Given the description of an element on the screen output the (x, y) to click on. 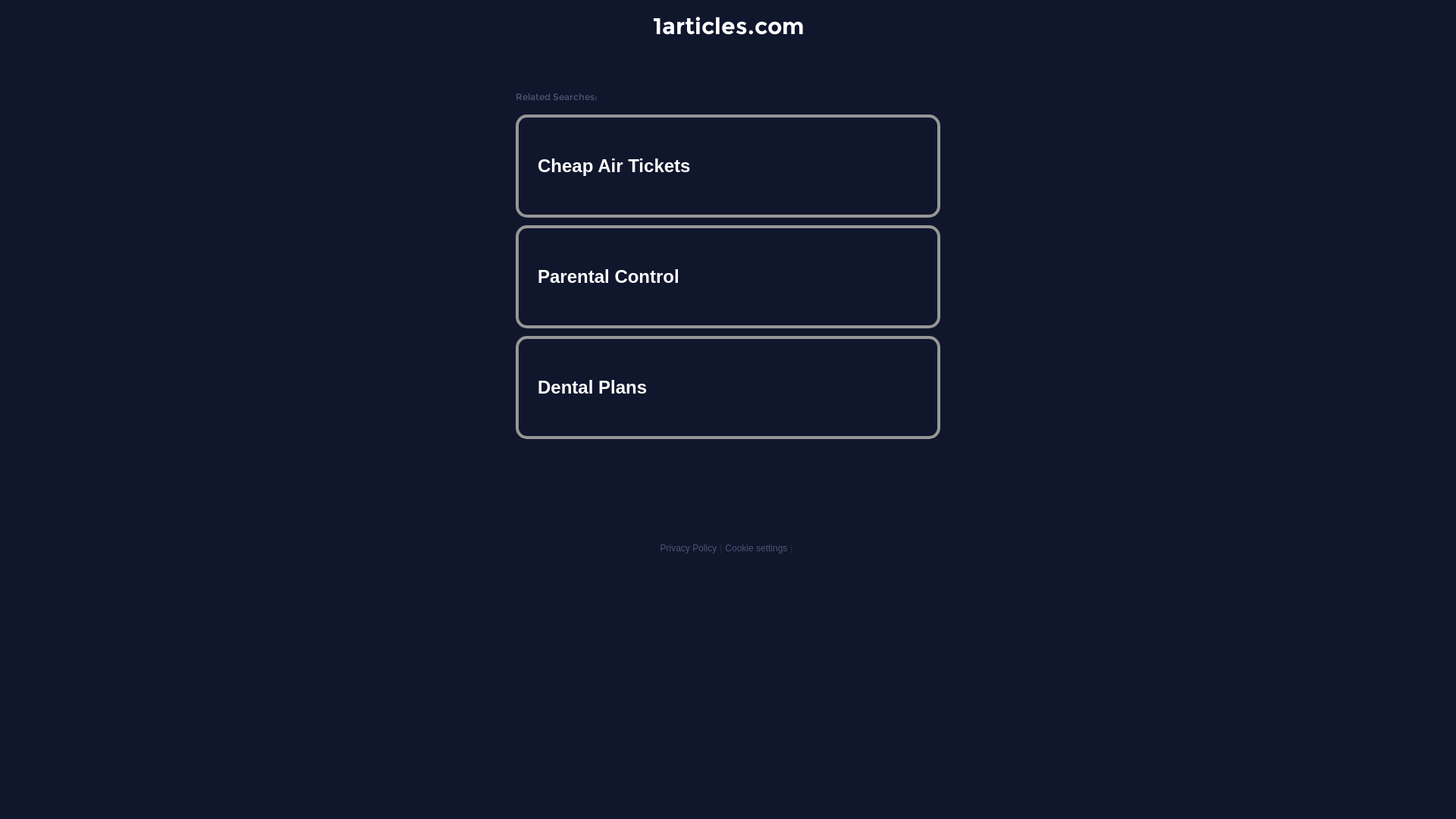
Cookie settings Element type: text (755, 547)
Parental Control Element type: text (727, 276)
Dental Plans Element type: text (727, 387)
Cheap Air Tickets Element type: text (727, 165)
1articles.com Element type: text (727, 26)
Privacy Policy Element type: text (687, 547)
